Given the description of an element on the screen output the (x, y) to click on. 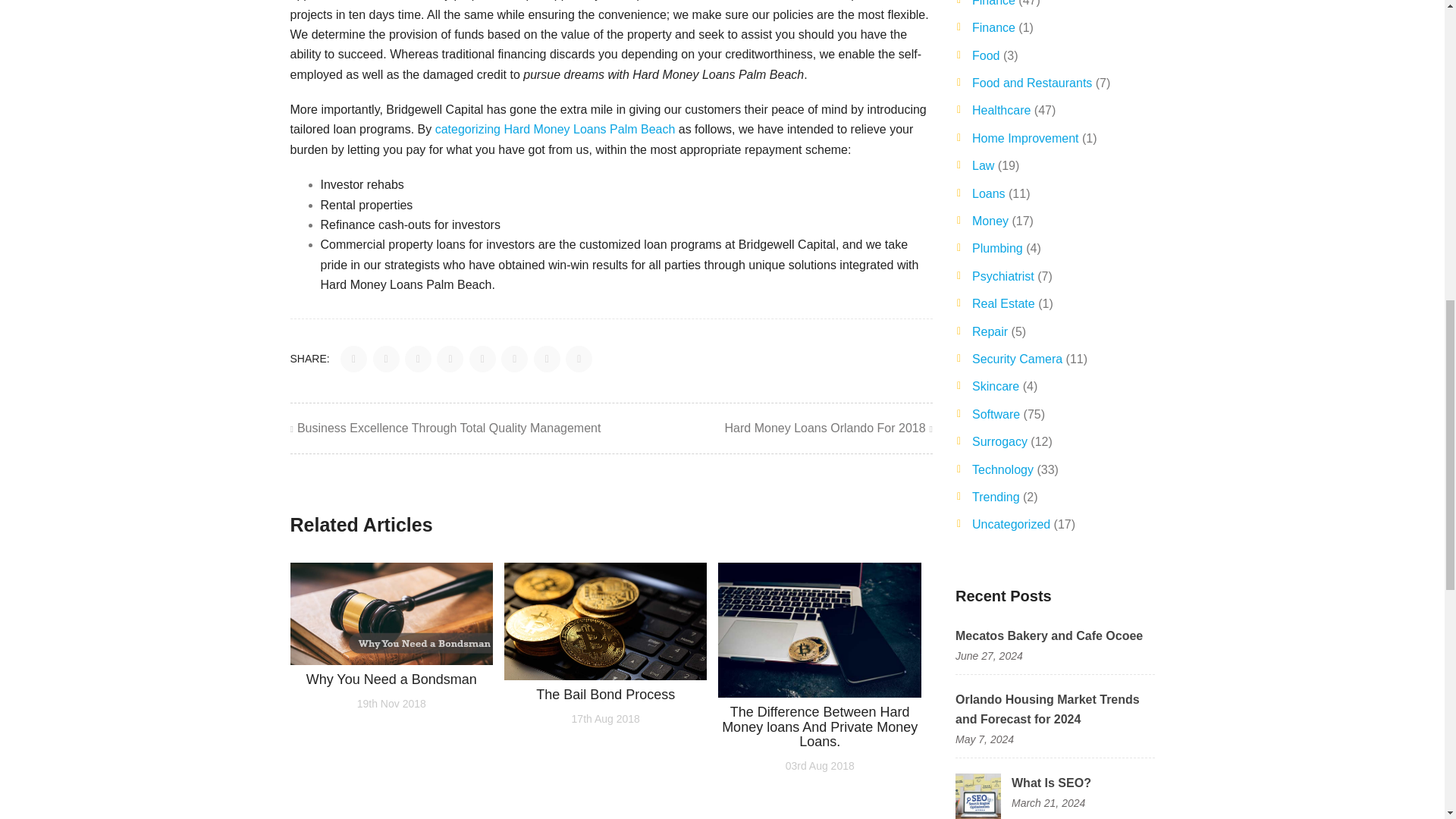
What Is SEO? (1050, 782)
What Is SEO? (978, 794)
Mecatos Bakery and Cafe Ocoee (1048, 635)
Orlando Housing Market Trends and Forecast for 2024 (1047, 708)
Hard Money Loans Orlando For 2018 (829, 427)
Share on Tumblr (546, 358)
Mail to Friend (578, 358)
Share on Pinterest (482, 358)
Share on Stumbleupon (514, 358)
categorizing Hard Money Loans Palm Beach (555, 128)
Share on Linkedin (450, 358)
Share on Twitter (386, 358)
Business Excellence Through Total Quality Management (444, 427)
Share on Facebook (353, 358)
